Given the description of an element on the screen output the (x, y) to click on. 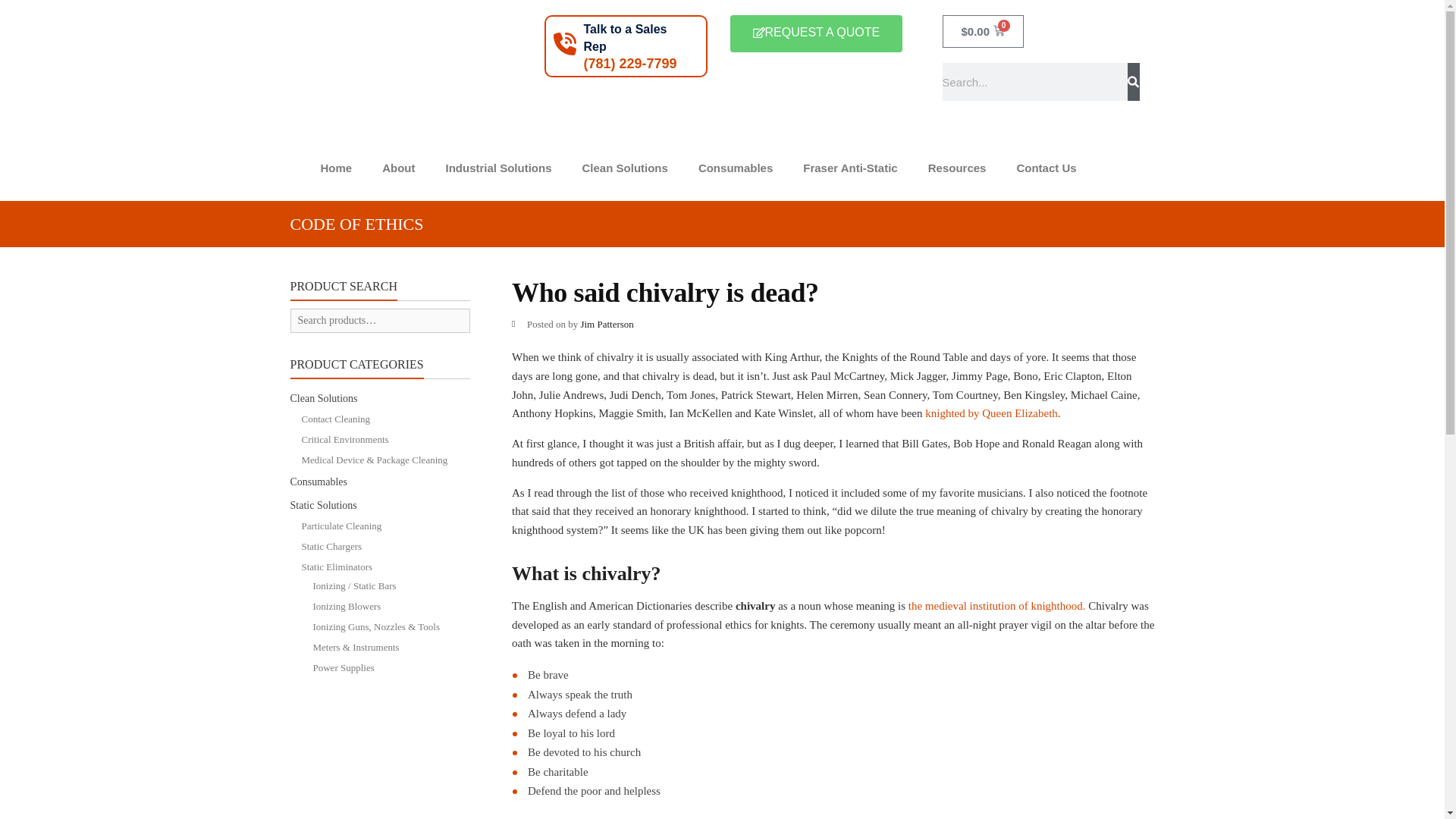
REQUEST A QUOTE (815, 33)
